Given the description of an element on the screen output the (x, y) to click on. 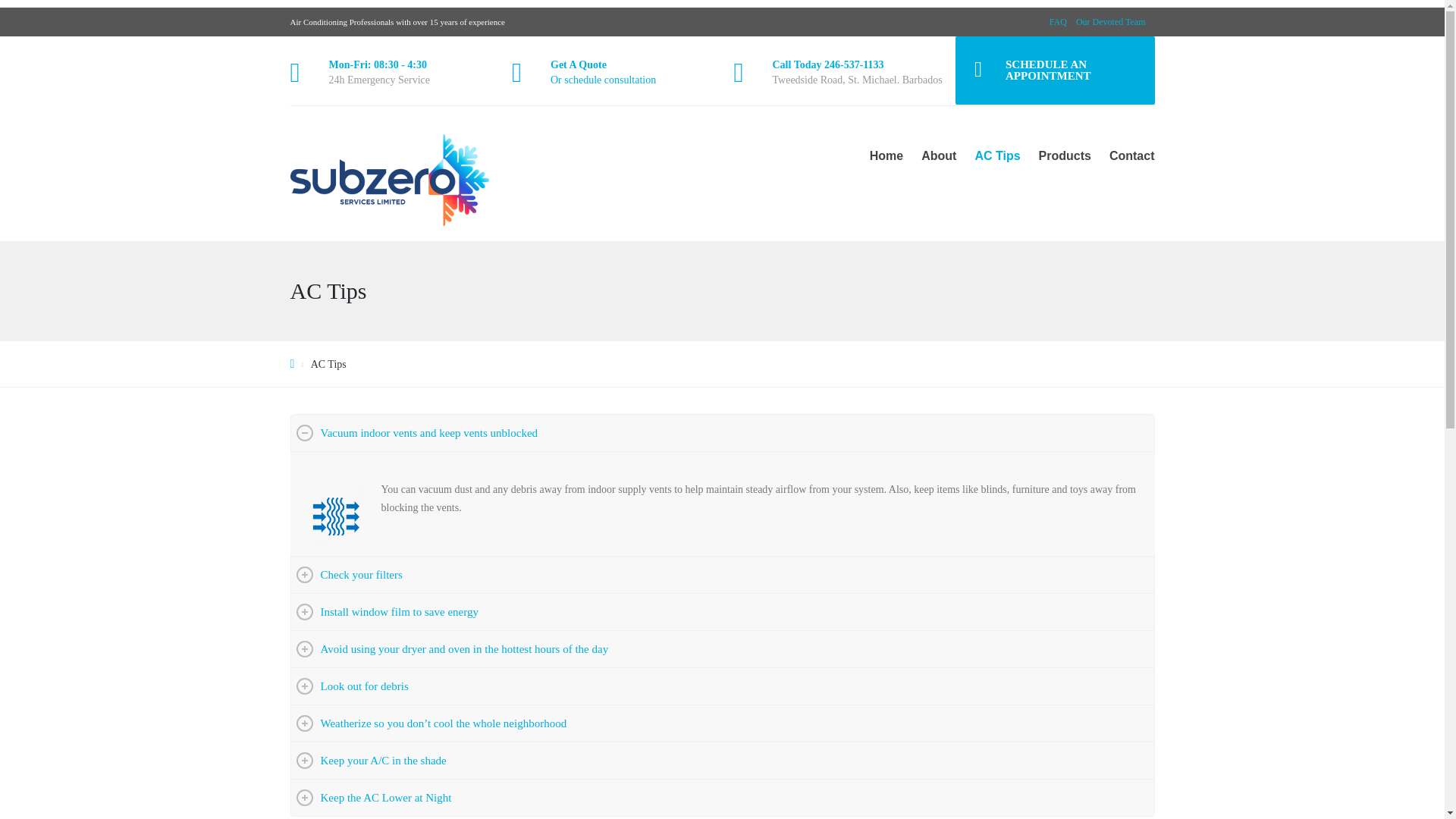
FAQ (1058, 21)
Our Devoted Team (1110, 21)
Install window film to save energy (722, 611)
Home (886, 156)
Keep the AC Lower at Night (722, 797)
About (938, 156)
Get A Quote (578, 64)
AC Tips (997, 156)
Or schedule consultation (603, 79)
